Given the description of an element on the screen output the (x, y) to click on. 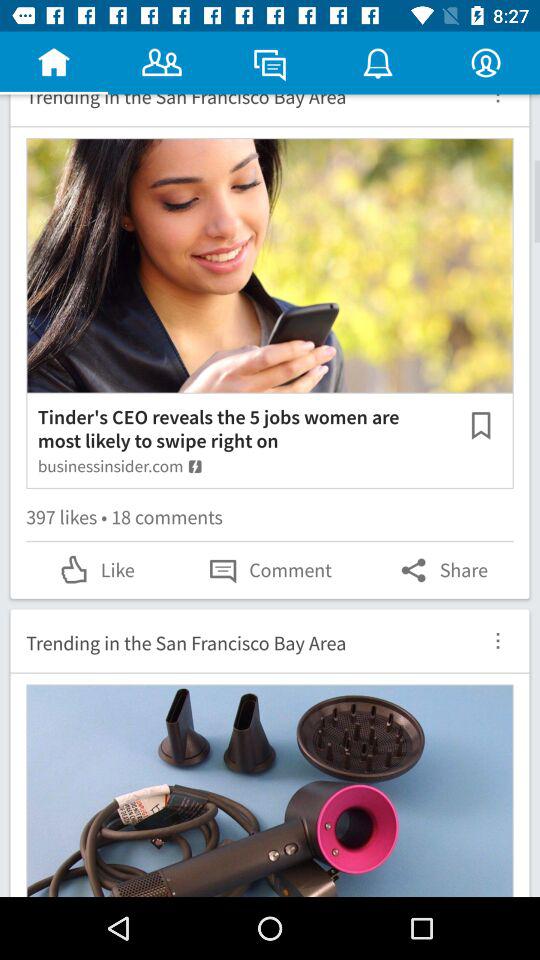
tap the item to the right of the tinder s ceo icon (480, 424)
